Given the description of an element on the screen output the (x, y) to click on. 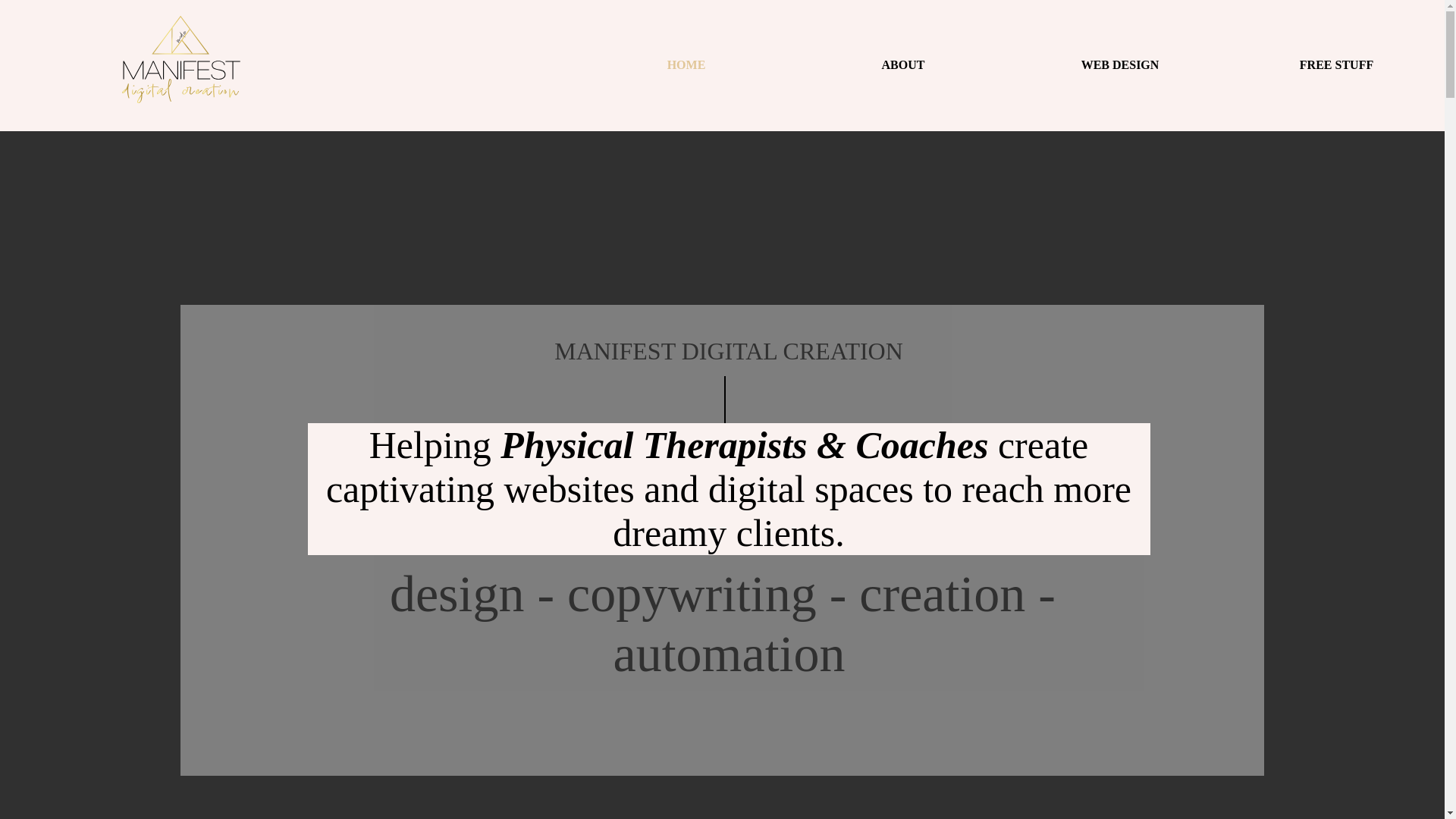
HOME (686, 64)
